Given the description of an element on the screen output the (x, y) to click on. 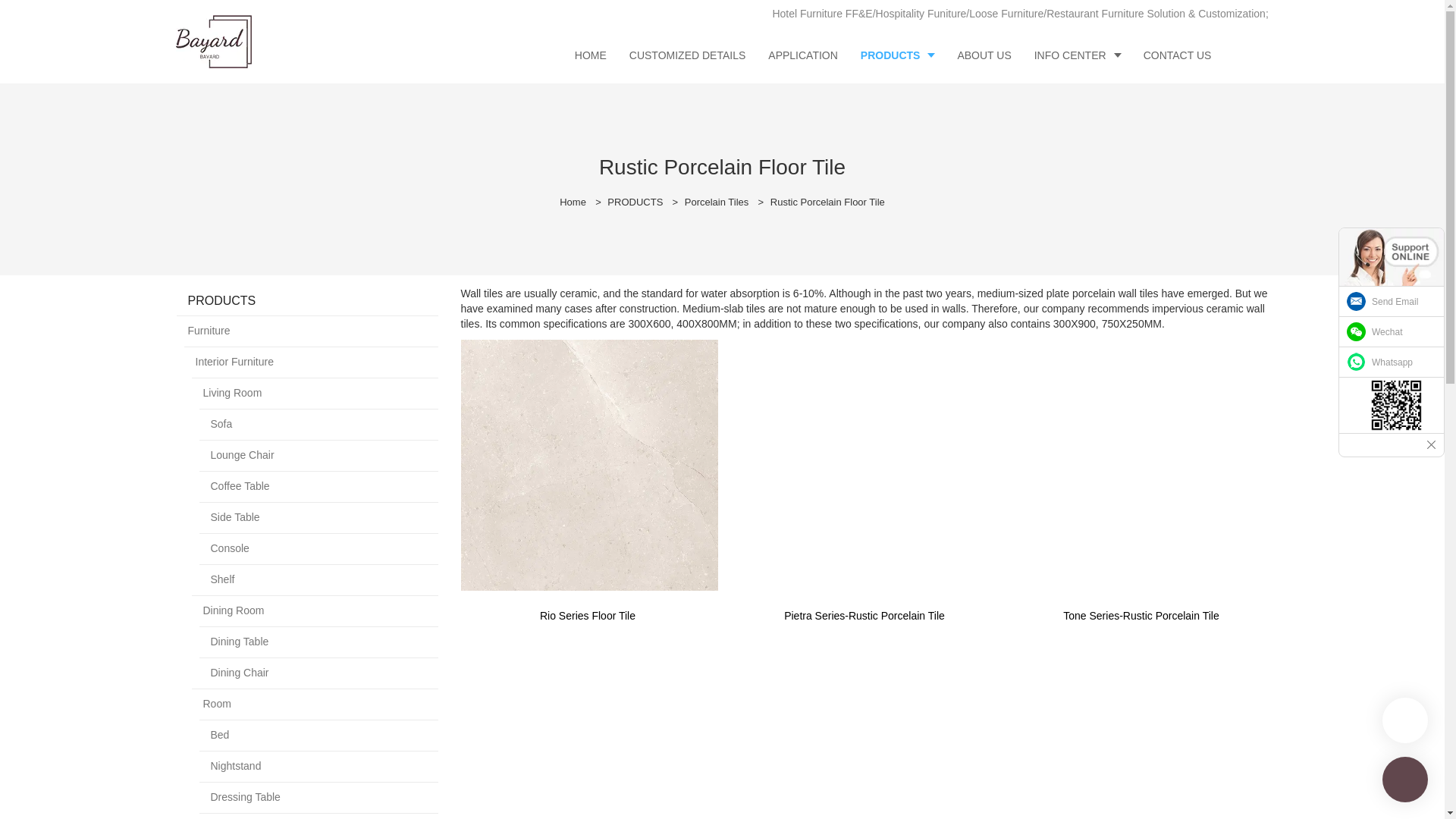
ABOUT US (983, 55)
Porcelain Tiles (716, 202)
PRODUCTS (634, 202)
APPLICATION (802, 55)
Wechat (1391, 331)
Home (572, 202)
Rustic Porcelain Floor Tile (827, 202)
INFO CENTER (1077, 55)
CUSTOMIZED DETAILS (687, 55)
Console (318, 548)
